Given the description of an element on the screen output the (x, y) to click on. 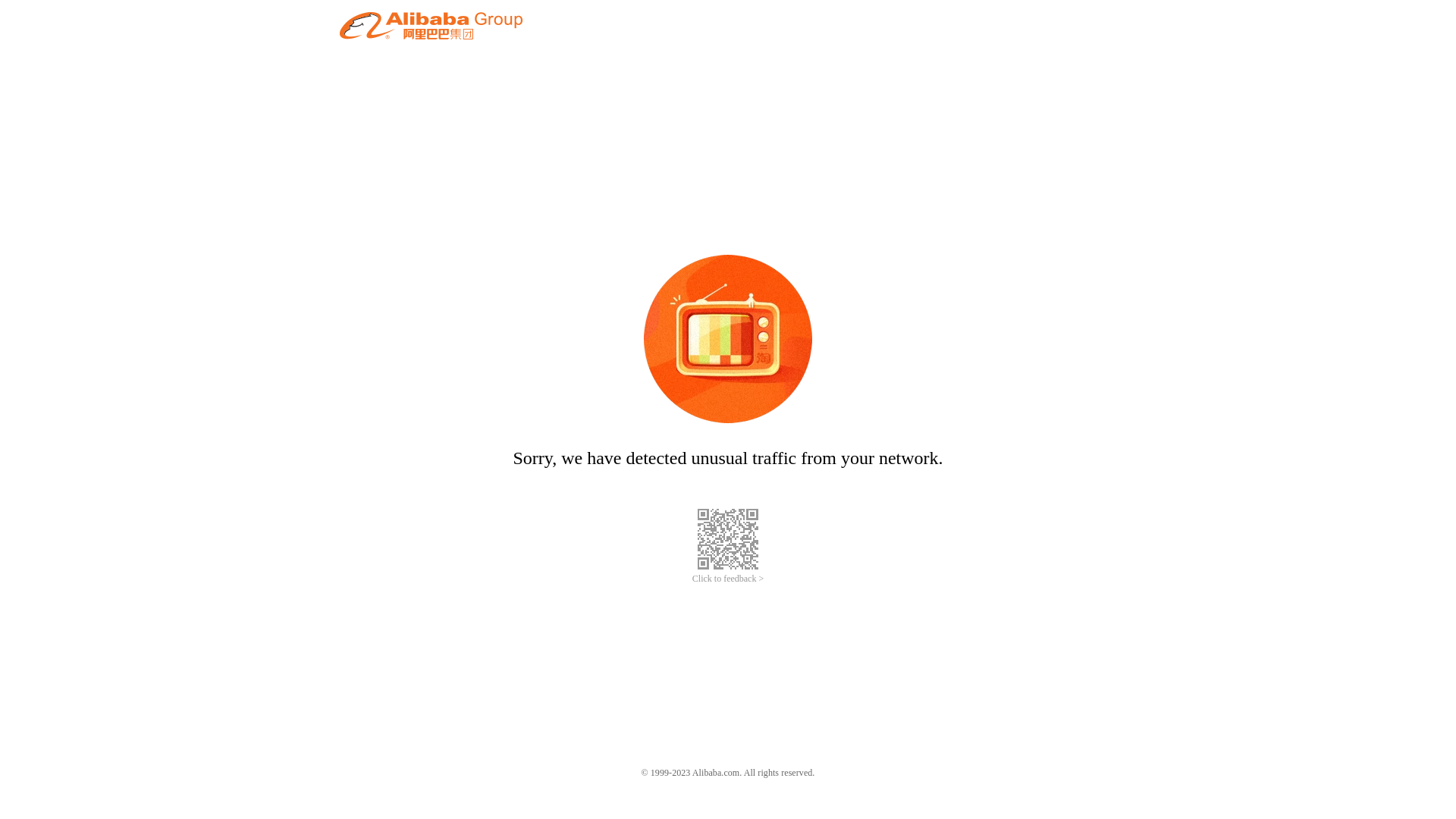
Click to feedback > Element type: text (727, 578)
